Given the description of an element on the screen output the (x, y) to click on. 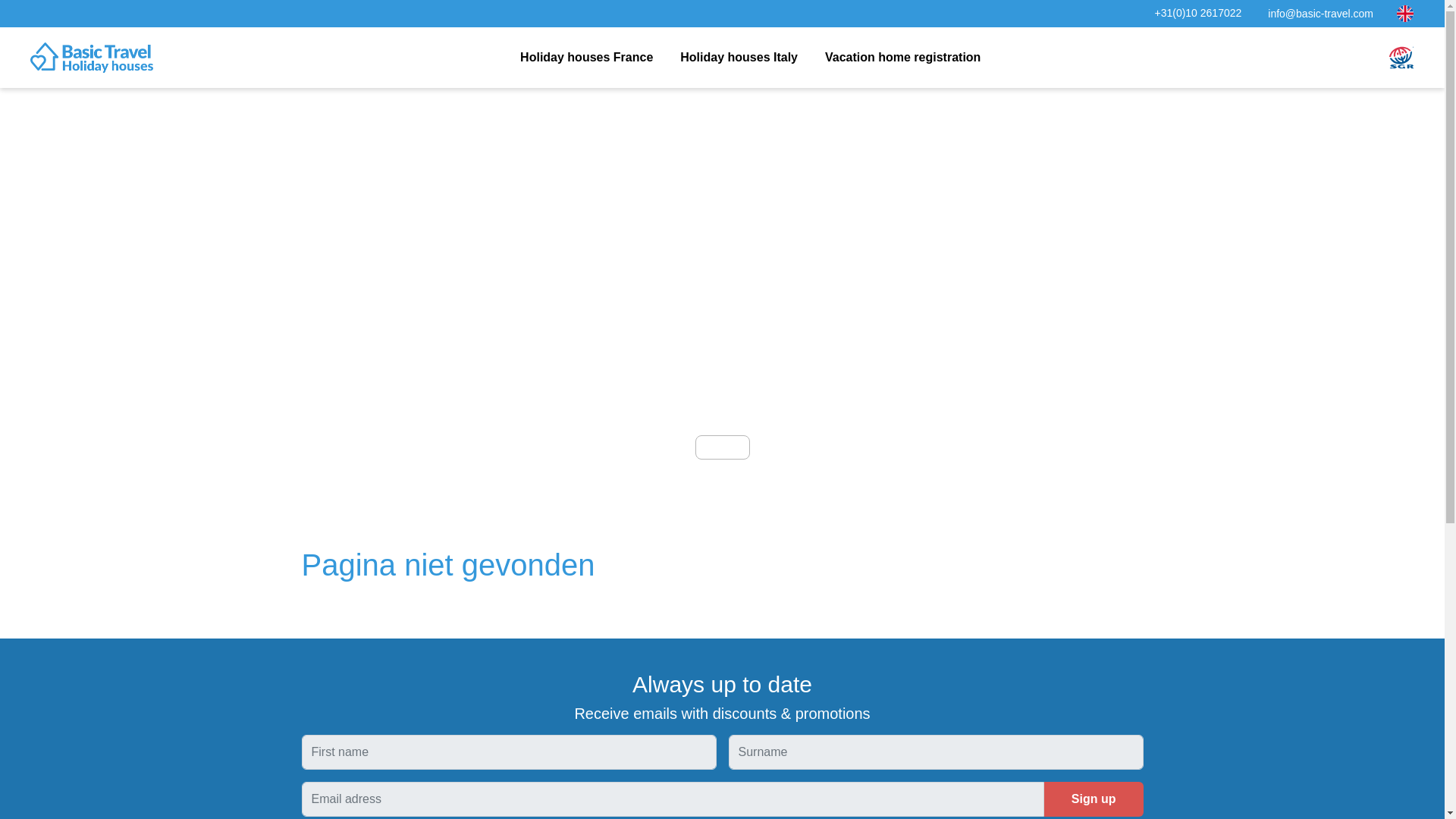
SGR (1401, 56)
Sign up (1092, 799)
Vacation home registration (902, 57)
Holiday houses Italy (738, 57)
Sign up (1092, 799)
Holiday houses France (586, 57)
basictravel (91, 57)
